Given the description of an element on the screen output the (x, y) to click on. 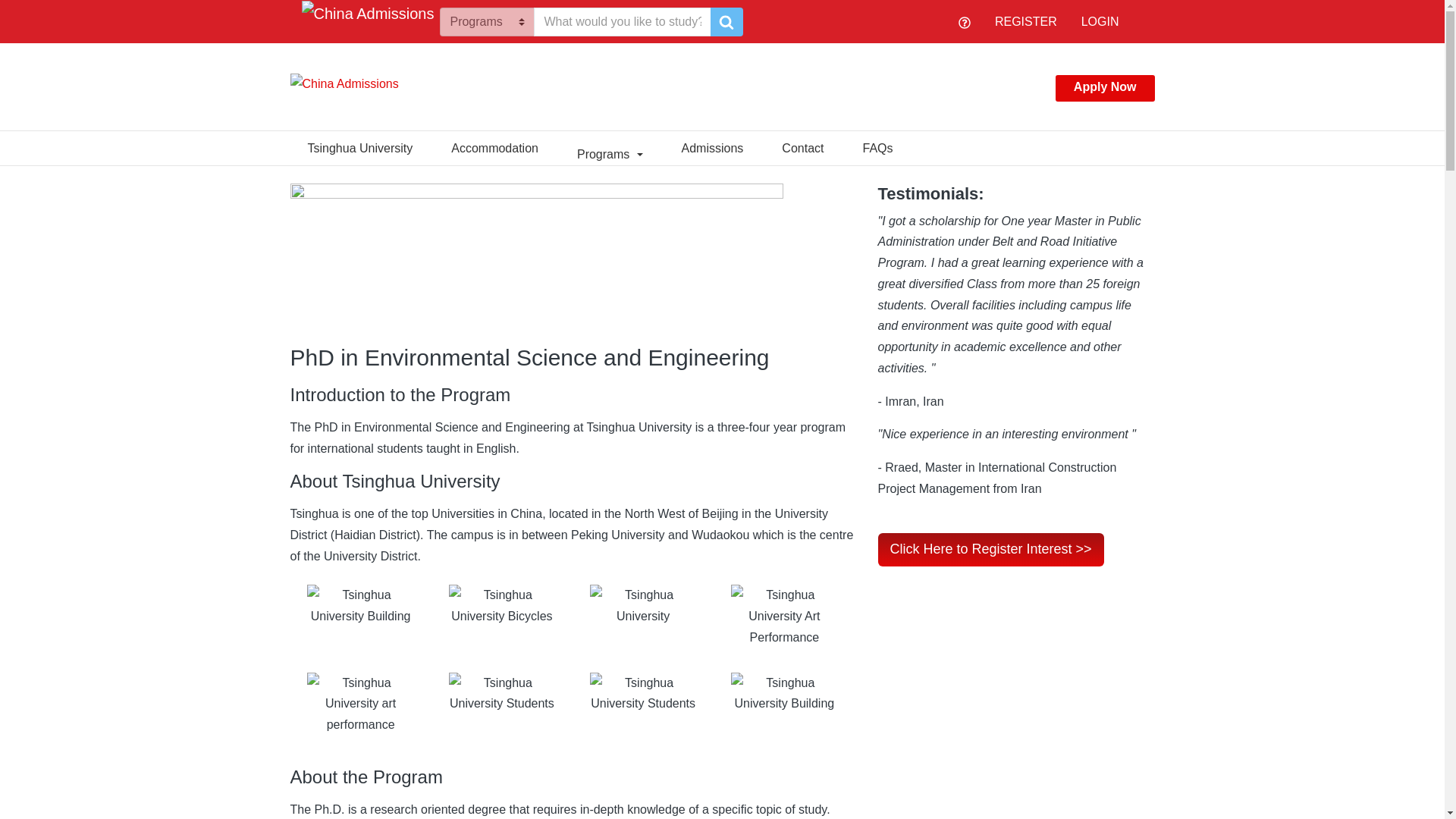
Tsinghua University (360, 146)
FAQs (878, 146)
Contact (802, 146)
Apply Now (1104, 87)
LOGIN (1100, 20)
REGISTER (1025, 20)
Accommodation (494, 146)
Programs (609, 146)
Admissions (712, 146)
